Given the description of an element on the screen output the (x, y) to click on. 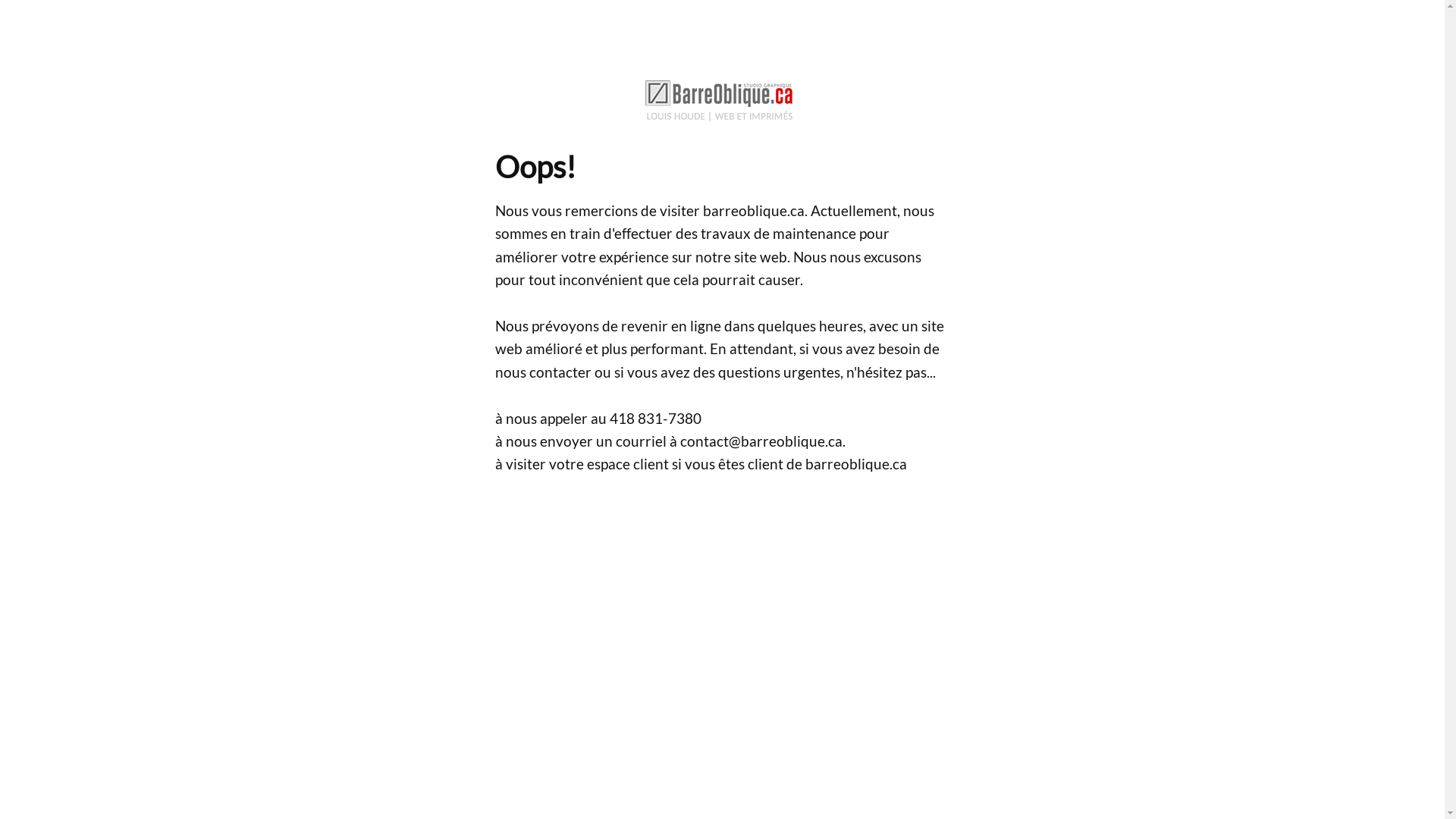
Barreoblique.ca Element type: hover (721, 97)
